Given the description of an element on the screen output the (x, y) to click on. 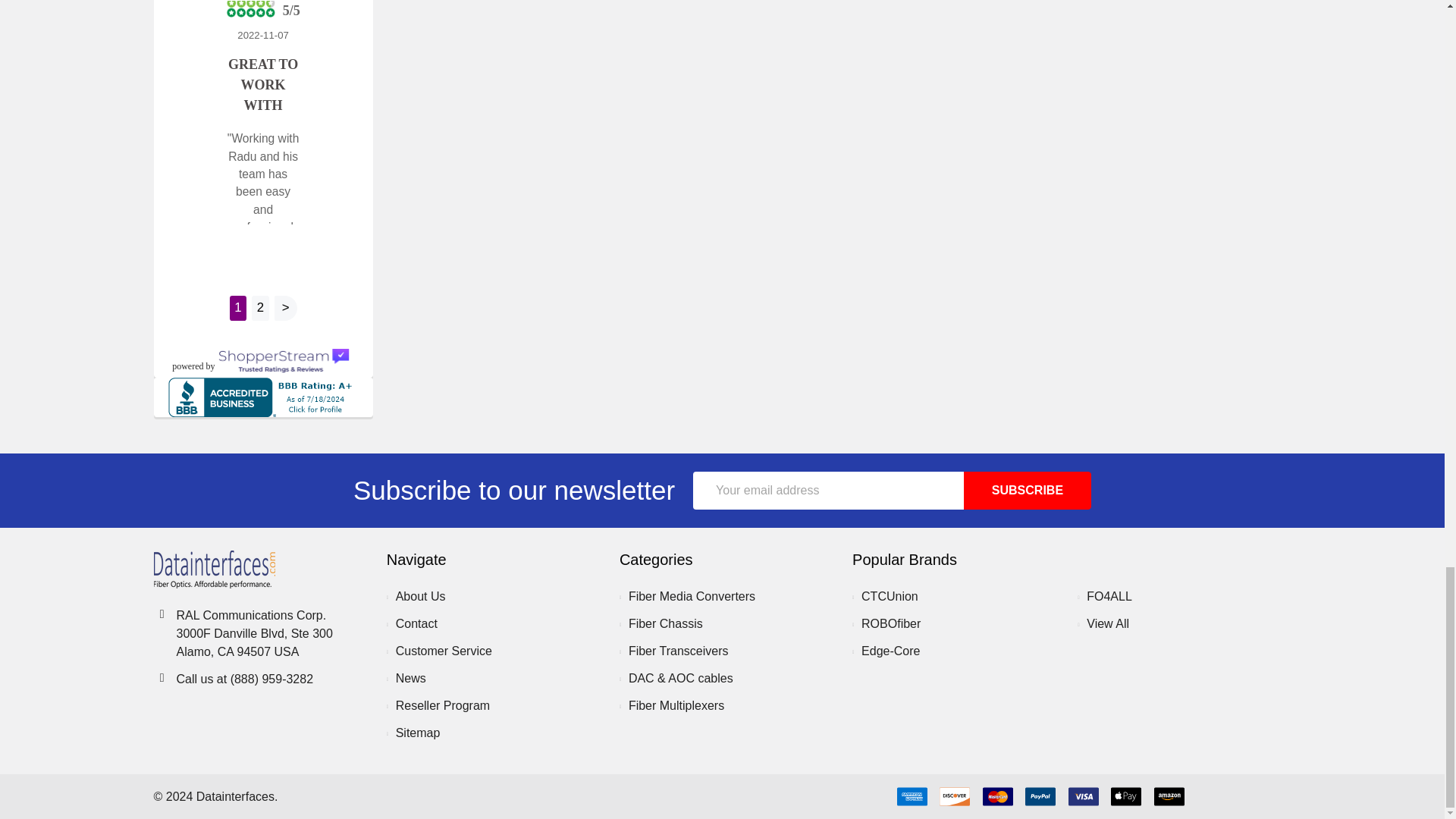
Datainterfaces (213, 569)
Subscribe (1026, 490)
